Given the description of an element on the screen output the (x, y) to click on. 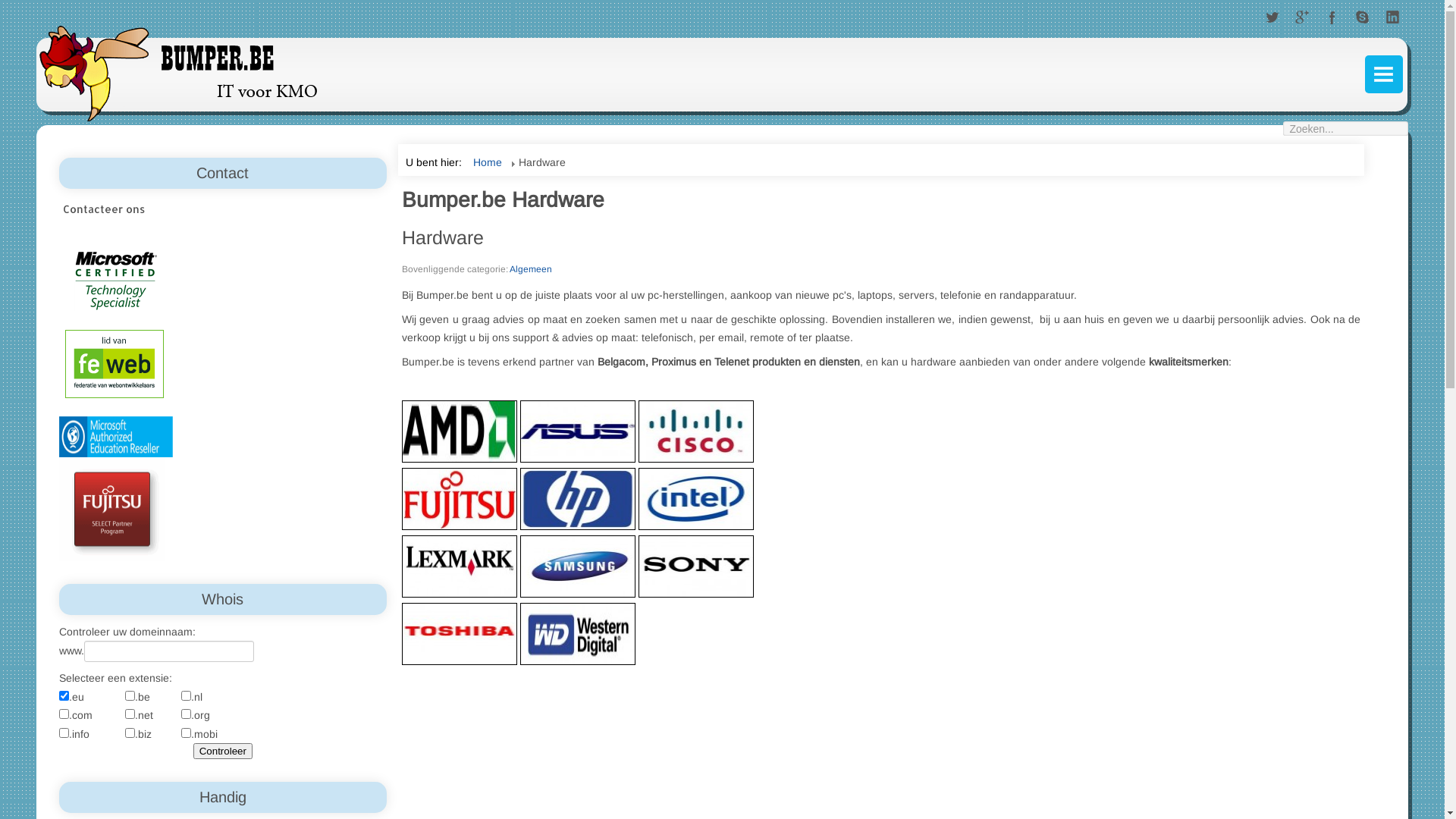
Fujitsu Partner Element type: hover (112, 509)
Controleer Element type: text (222, 751)
Menu Element type: text (1383, 74)
Microsoft Certified Professional Element type: hover (115, 279)
Algemeen Element type: text (530, 268)
Contacteer ons Element type: text (222, 208)
Microsoft Certified Technology Specialist Element type: hover (115, 280)
Google Plus Element type: hover (1301, 17)
LinkedIn Element type: hover (1392, 17)
Skype Element type: hover (1362, 17)
Facebook Element type: hover (1332, 17)
Lid van FeWeb Element type: hover (114, 363)
Microsoft Authorised Education reseller Element type: hover (115, 435)
Microsoft Certified Technology Specialist Element type: hover (115, 436)
FeWeb, federatie van webontwikkelaars Element type: hover (114, 362)
Twitter Element type: hover (1271, 17)
Home Element type: text (487, 162)
